Given the description of an element on the screen output the (x, y) to click on. 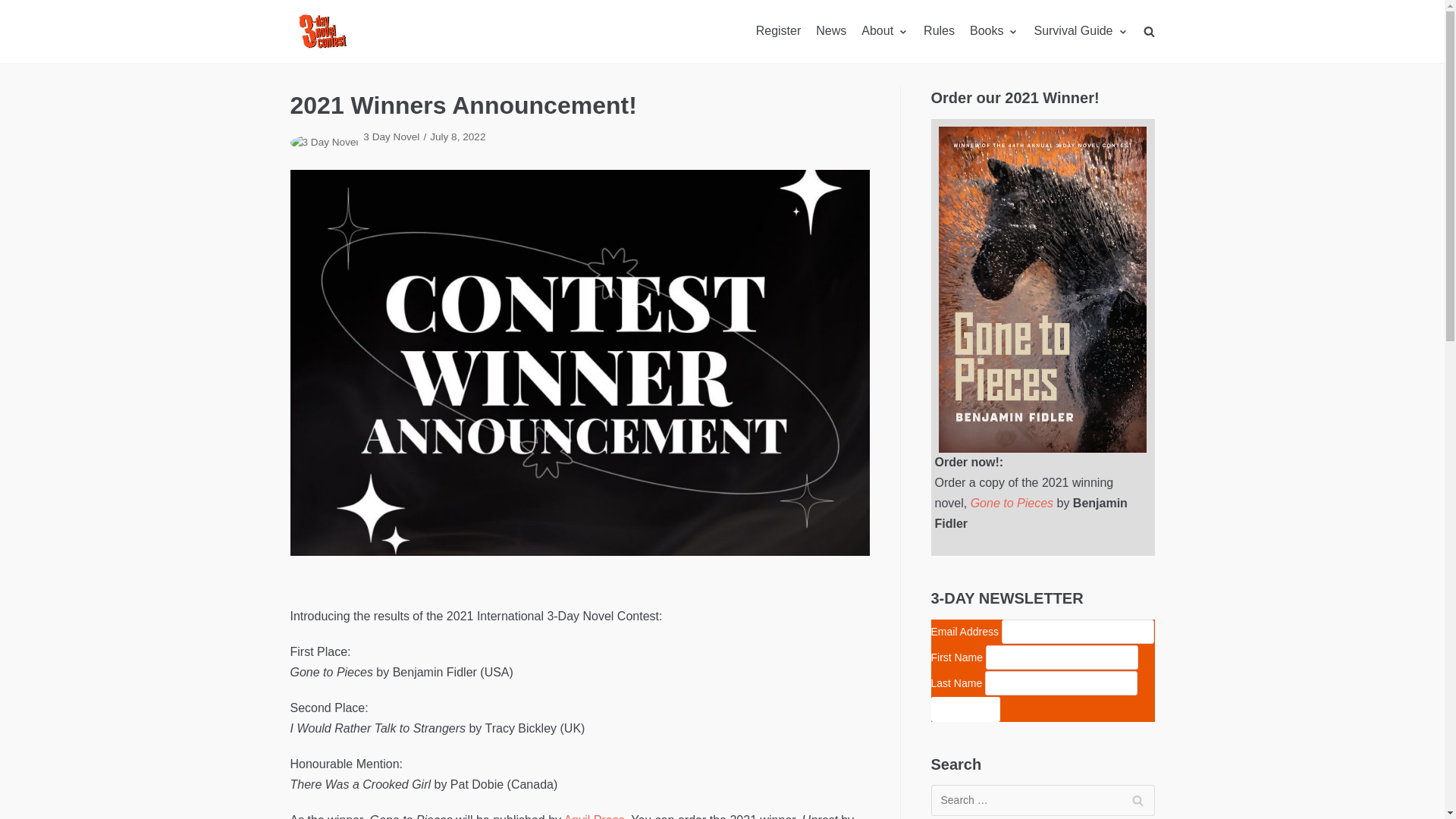
Rules Element type: text (938, 31)
Search Element type: text (1122, 65)
Subscribe Element type: text (966, 708)
Survival Guide Element type: text (1080, 31)
Gone to Pieces, by Benjamin Fidler Element type: hover (1042, 289)
About Element type: text (884, 31)
Register Element type: text (778, 31)
Skip to content Element type: text (15, 7)
News Element type: text (830, 31)
Gone to Pieces Element type: text (1011, 502)
Books Element type: text (993, 31)
3 Day Novel Element type: text (391, 136)
3-Day Novel Contest Element type: hover (321, 31)
Search Element type: text (1137, 799)
